Given the description of an element on the screen output the (x, y) to click on. 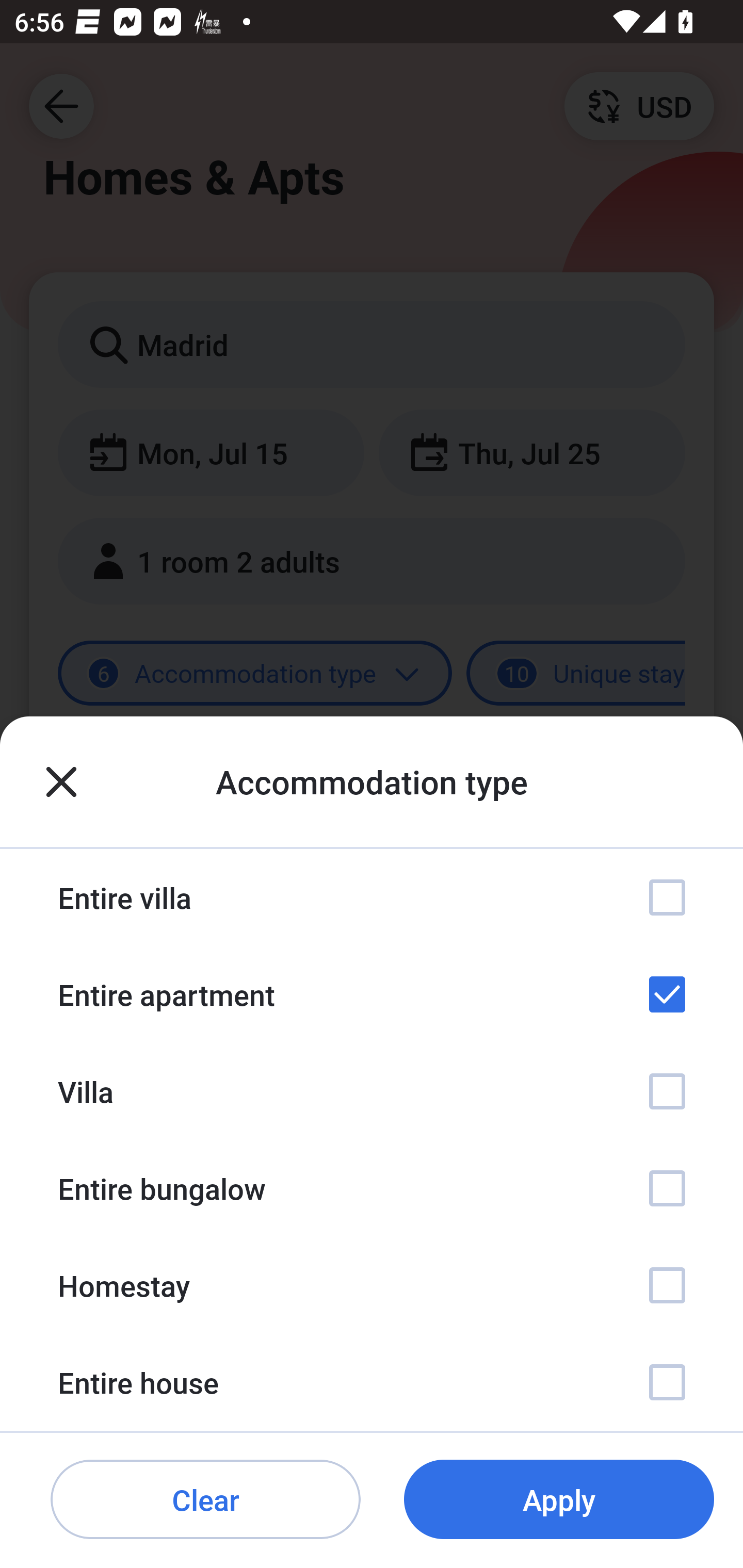
Entire villa (371, 897)
Entire apartment (371, 994)
Villa (371, 1091)
Entire bungalow (371, 1188)
Homestay (371, 1284)
Entire house (371, 1382)
Clear (205, 1499)
Apply (559, 1499)
